Given the description of an element on the screen output the (x, y) to click on. 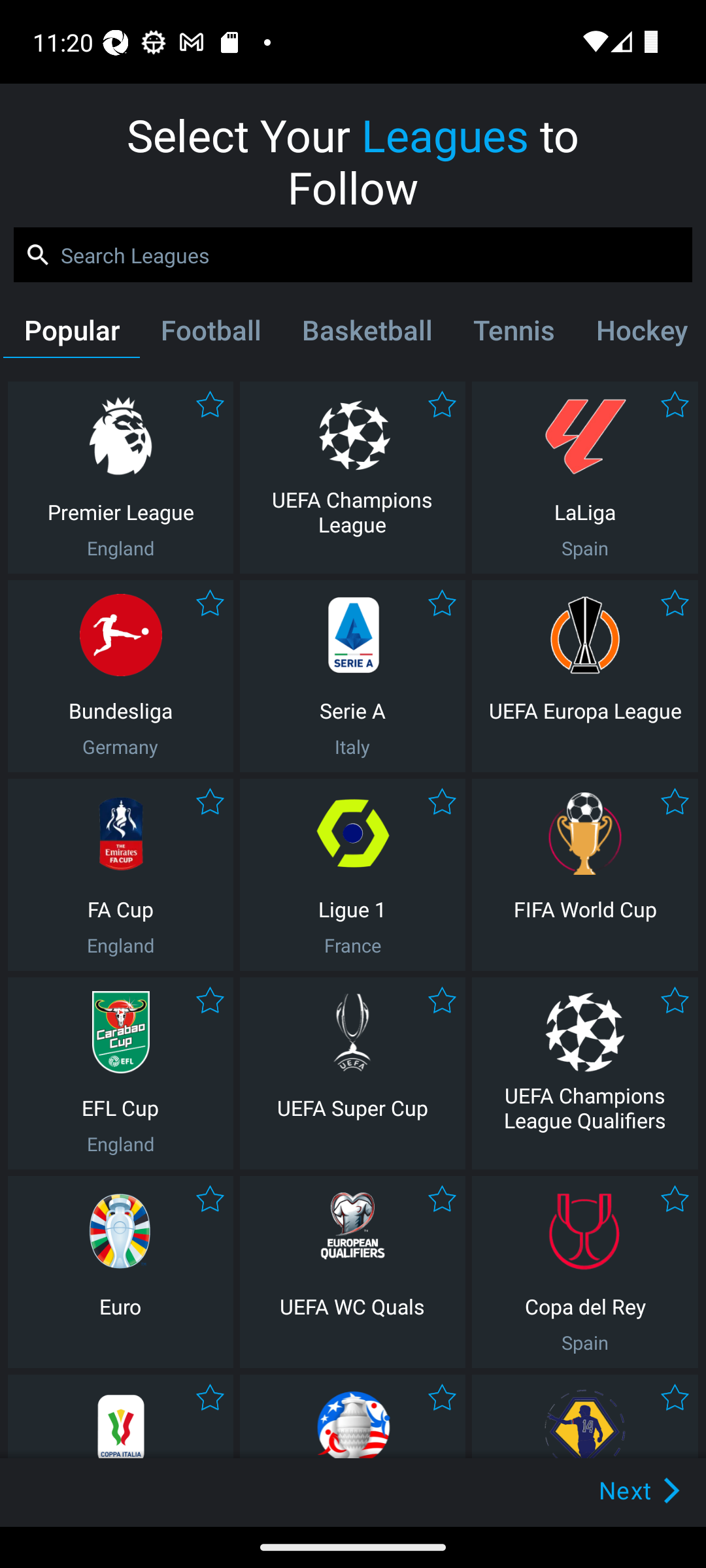
Search Leagues (352, 254)
Popular (71, 333)
Football (209, 333)
Basketball (366, 333)
Tennis (513, 333)
Hockey (638, 333)
Premier League England (120, 477)
UEFA Champions League (352, 477)
LaLiga Spain (585, 477)
Bundesliga Germany (120, 675)
Serie A Italy (352, 675)
UEFA Europa League (585, 675)
FA Cup England (120, 874)
Ligue 1 France (352, 874)
FIFA World Cup (585, 874)
EFL Cup England (120, 1072)
UEFA Super Cup (352, 1072)
UEFA Champions League Qualifiers (585, 1072)
Euro (120, 1271)
UEFA WC Quals (352, 1271)
Copa del Rey Spain (585, 1271)
Next (609, 1489)
